Given the description of an element on the screen output the (x, y) to click on. 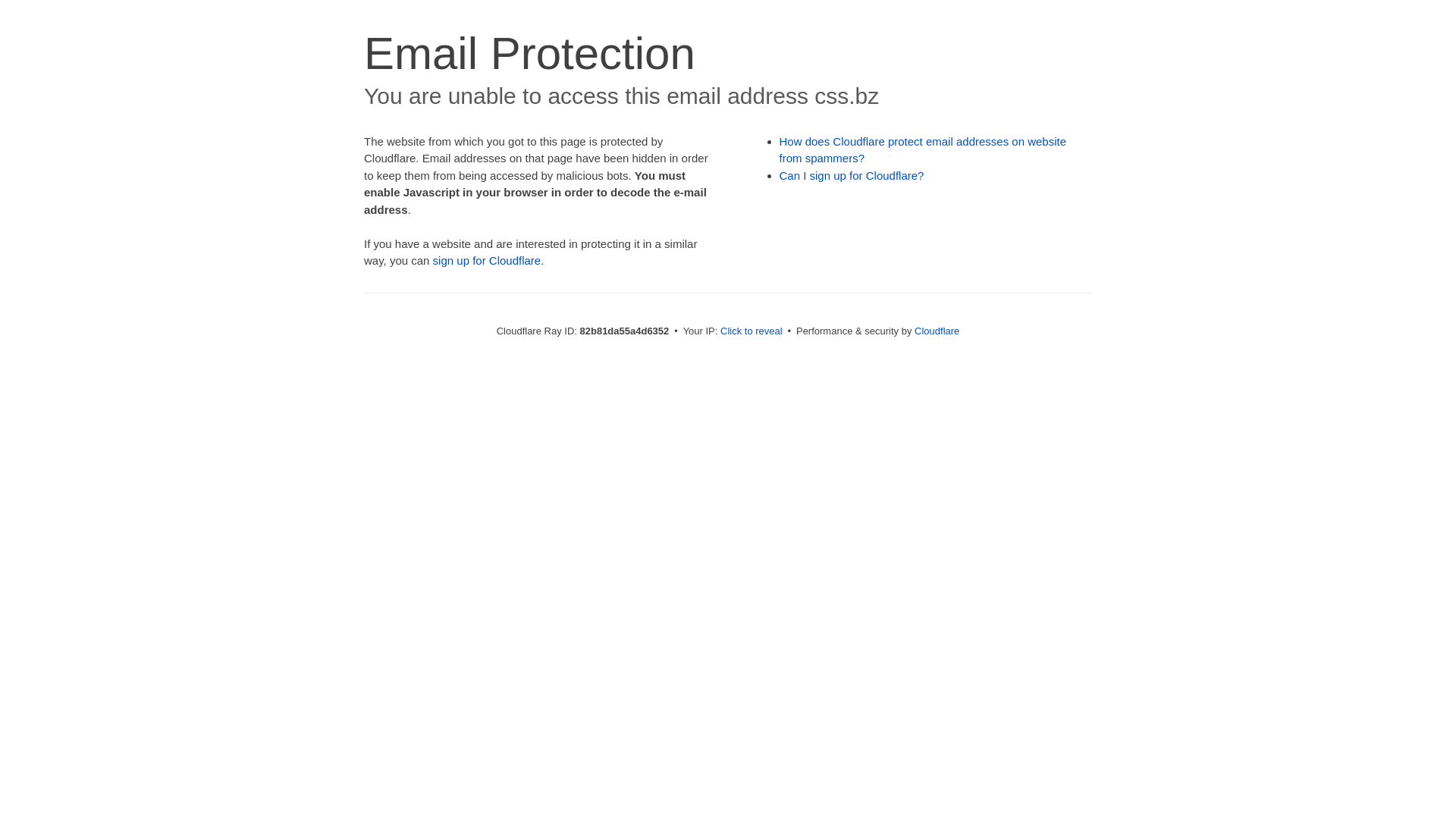
Click to reveal Element type: text (751, 330)
sign up for Cloudflare Element type: text (487, 260)
Cloudflare Element type: text (936, 330)
Can I sign up for Cloudflare? Element type: text (851, 175)
